Given the description of an element on the screen output the (x, y) to click on. 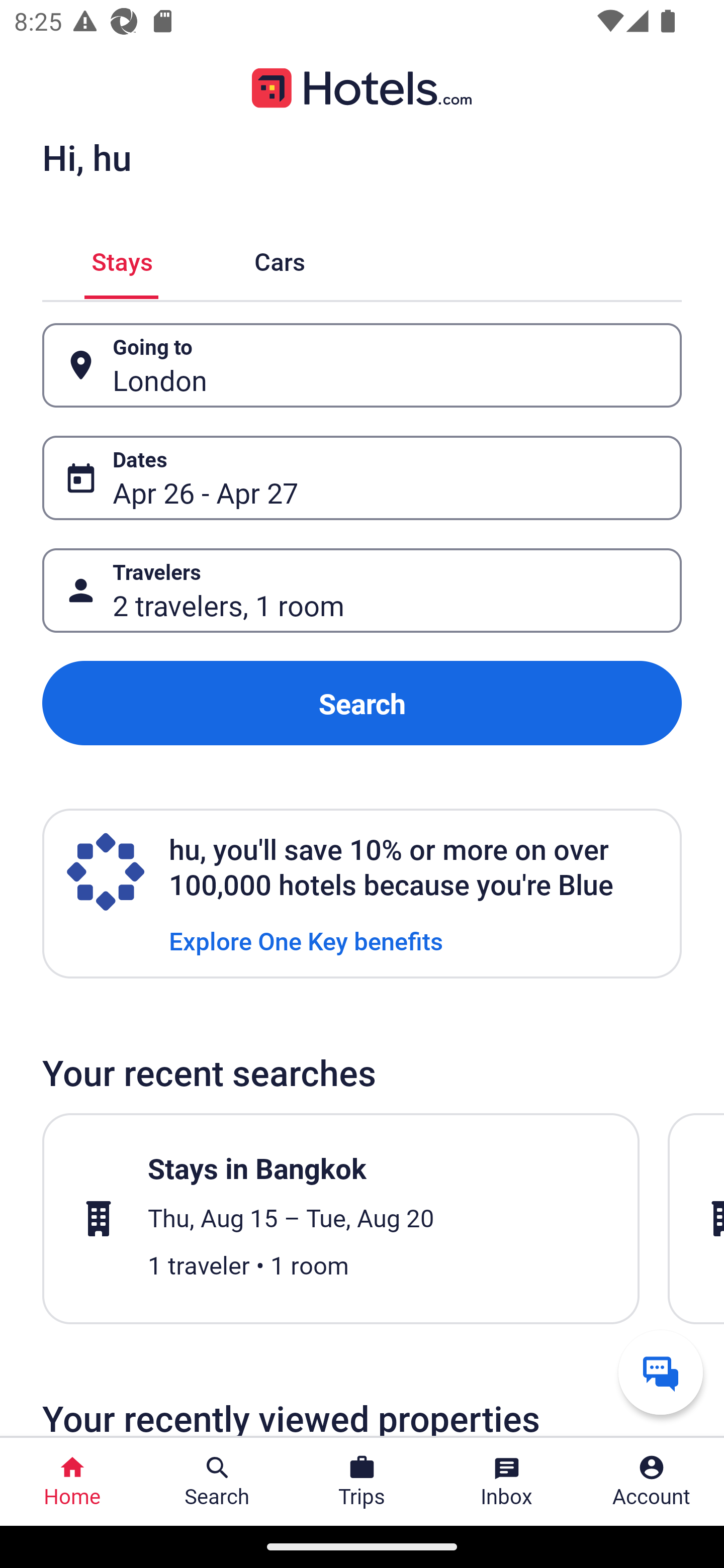
Hi, hu (86, 156)
Cars (279, 259)
Going to Button London (361, 365)
Dates Button Apr 26 - Apr 27 (361, 477)
Travelers Button 2 travelers, 1 room (361, 590)
Search (361, 702)
Get help from a virtual agent (660, 1371)
Search Search Button (216, 1481)
Trips Trips Button (361, 1481)
Inbox Inbox Button (506, 1481)
Account Profile. Button (651, 1481)
